Given the description of an element on the screen output the (x, y) to click on. 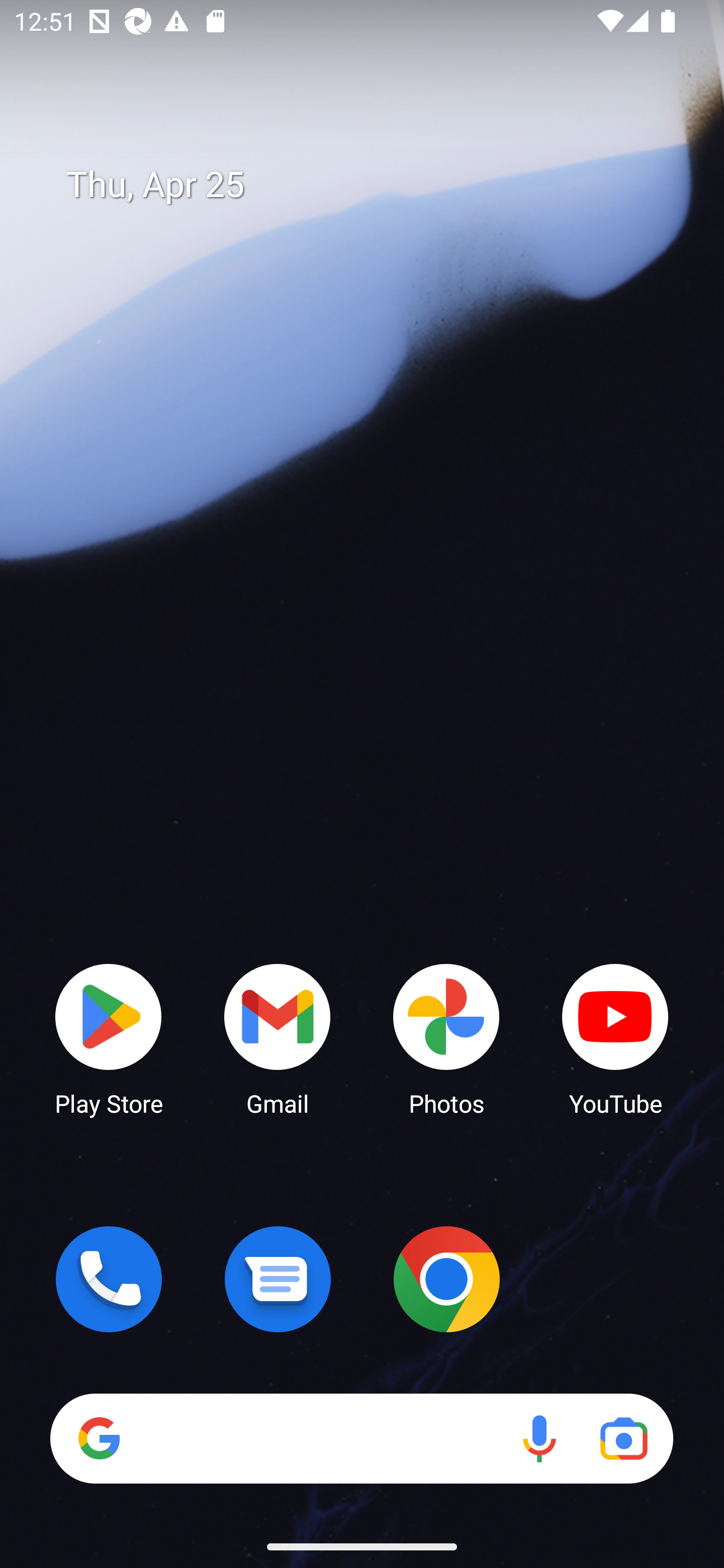
Thu, Apr 25 (375, 184)
Play Store (108, 1038)
Gmail (277, 1038)
Photos (445, 1038)
YouTube (615, 1038)
Phone (108, 1279)
Messages (277, 1279)
Chrome (446, 1279)
Search Voice search Google Lens (361, 1438)
Voice search (539, 1438)
Google Lens (623, 1438)
